Given the description of an element on the screen output the (x, y) to click on. 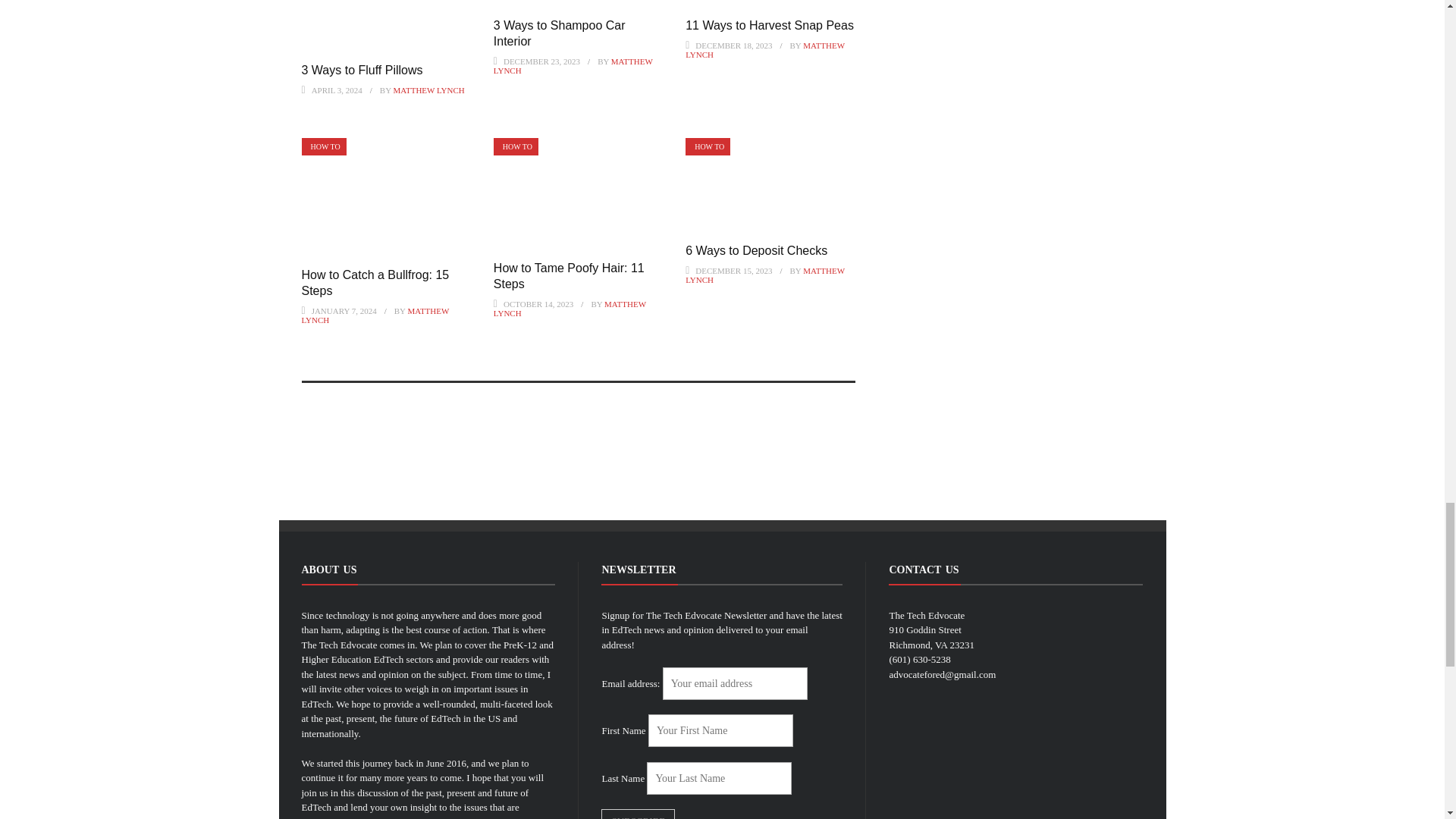
Subscribe (638, 814)
